Given the description of an element on the screen output the (x, y) to click on. 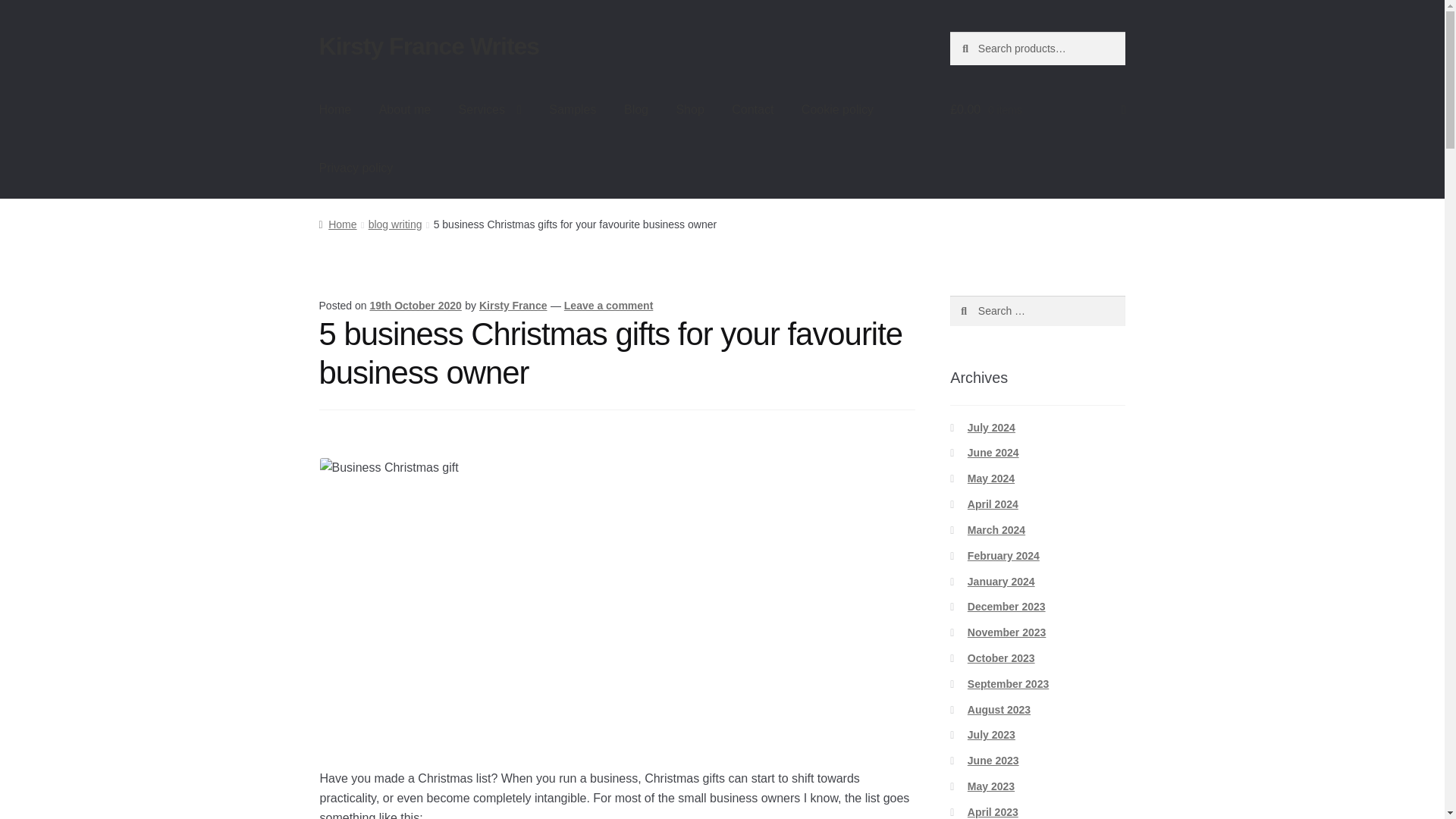
Leave a comment (608, 305)
Home (335, 109)
Kirsty France Writes (429, 45)
Shop (689, 109)
Privacy policy (356, 168)
19th October 2020 (415, 305)
Home (337, 224)
Contact (752, 109)
View your shopping basket (1037, 109)
Cookie policy (837, 109)
Kirsty France (513, 305)
blog writing (395, 224)
